Given the description of an element on the screen output the (x, y) to click on. 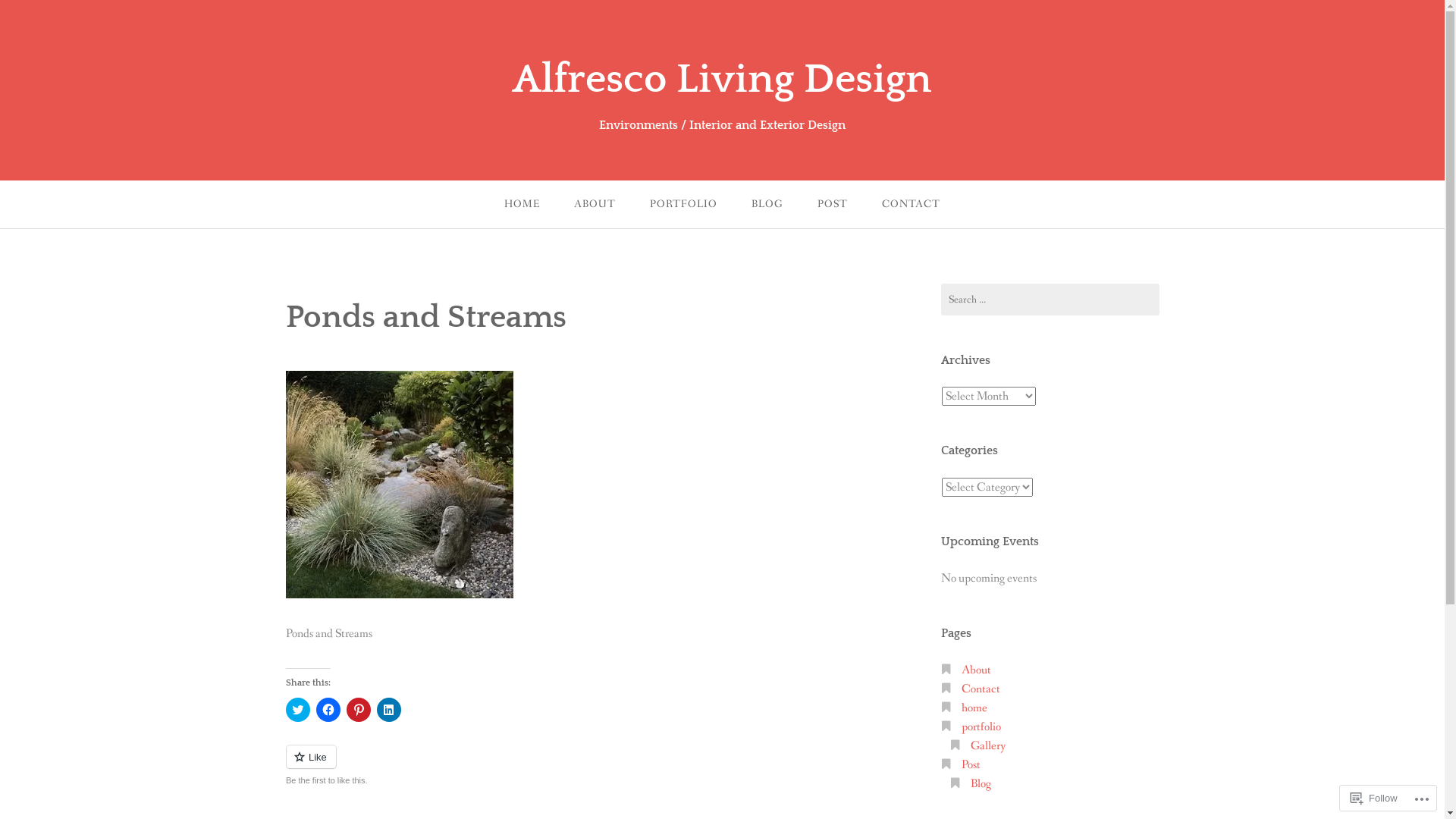
About Element type: text (976, 669)
HOME Element type: text (521, 204)
Click to share on Pinterest (Opens in new window) Element type: text (357, 709)
Like or Reblog Element type: hover (569, 765)
home Element type: text (974, 707)
Gallery Element type: text (987, 745)
Post Element type: text (970, 764)
CONTACT Element type: text (911, 204)
Click to share on LinkedIn (Opens in new window) Element type: text (388, 709)
ABOUT Element type: text (594, 204)
Blog Element type: text (980, 783)
Click to share on Facebook (Opens in new window) Element type: text (327, 709)
portfolio Element type: text (981, 726)
BLOG Element type: text (767, 204)
Follow Element type: text (1373, 797)
Click to share on Twitter (Opens in new window) Element type: text (297, 709)
PORTFOLIO Element type: text (683, 204)
Contact Element type: text (980, 688)
Alfresco Living Design Element type: text (721, 79)
POST Element type: text (832, 204)
Search Element type: text (27, 15)
